Given the description of an element on the screen output the (x, y) to click on. 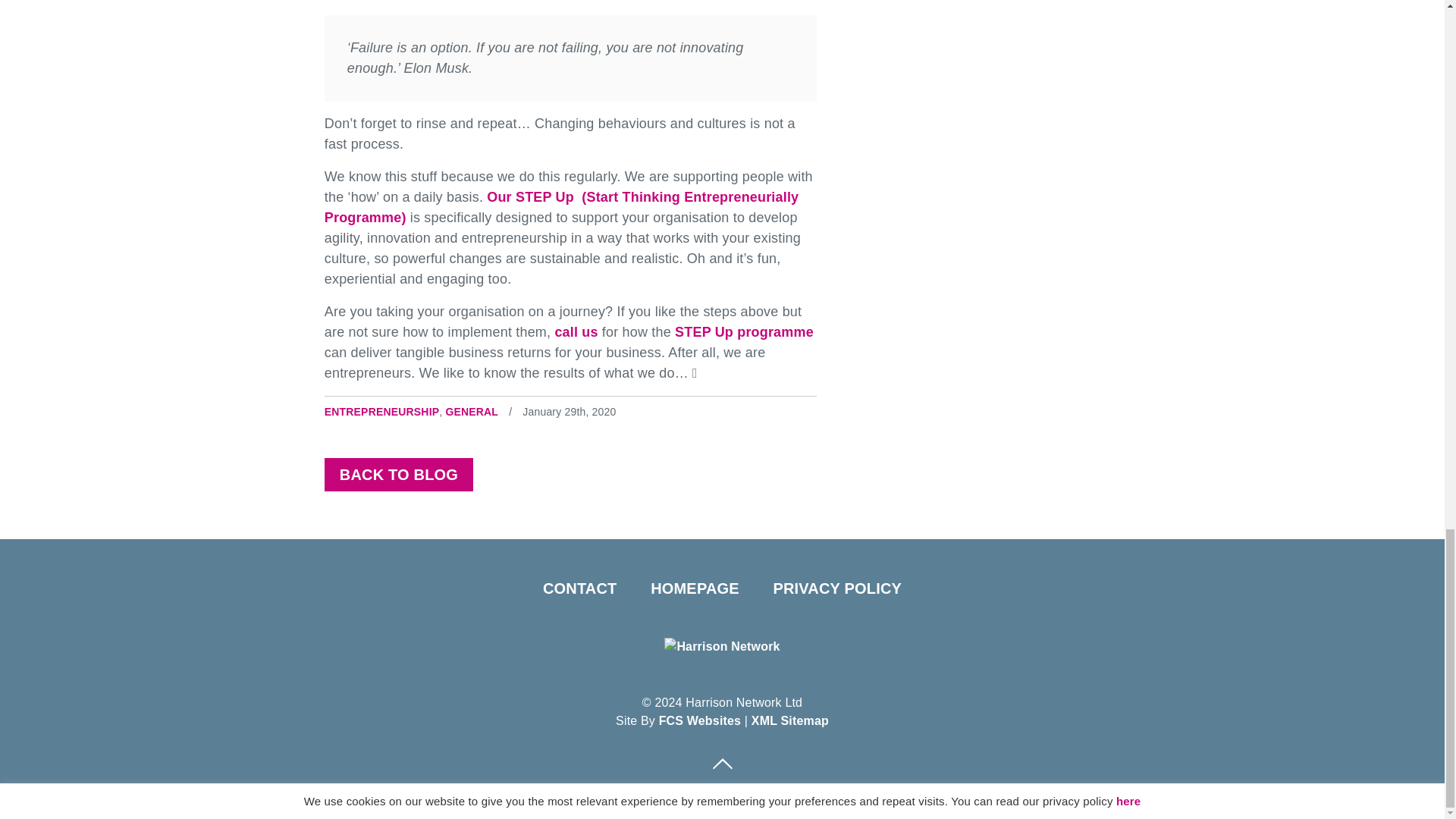
call us (575, 331)
GENERAL (471, 411)
Harrison Network (720, 645)
BACK TO BLOG (398, 474)
STEP Up programme (744, 331)
web design nottingham (700, 720)
ENTREPRENEURSHIP (381, 411)
